Given the description of an element on the screen output the (x, y) to click on. 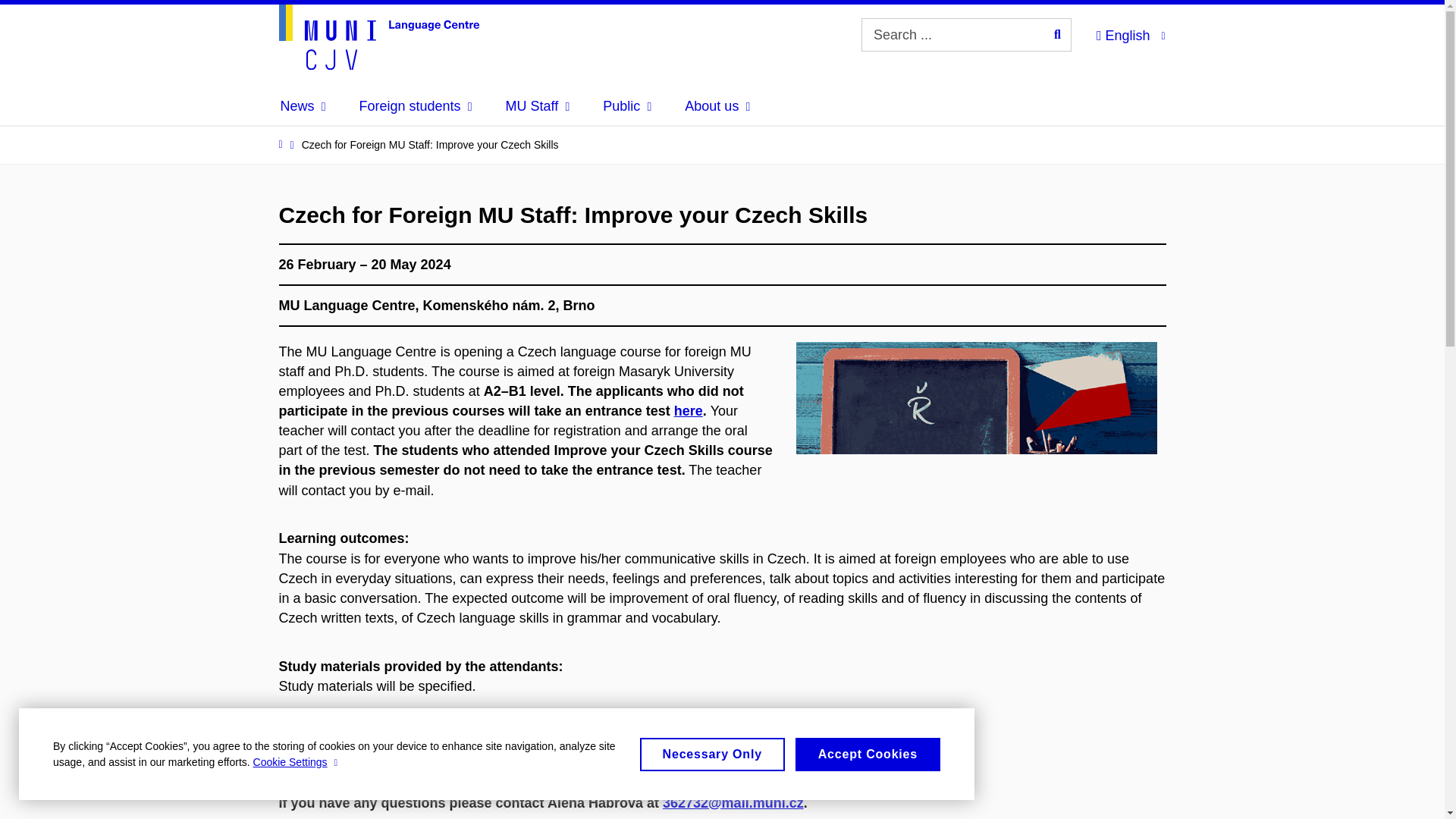
English (1130, 34)
Foreign students (415, 105)
Search ... (1057, 34)
Public (626, 105)
News (303, 105)
MU Staff (537, 105)
Homepage site (379, 36)
About us (716, 105)
